Given the description of an element on the screen output the (x, y) to click on. 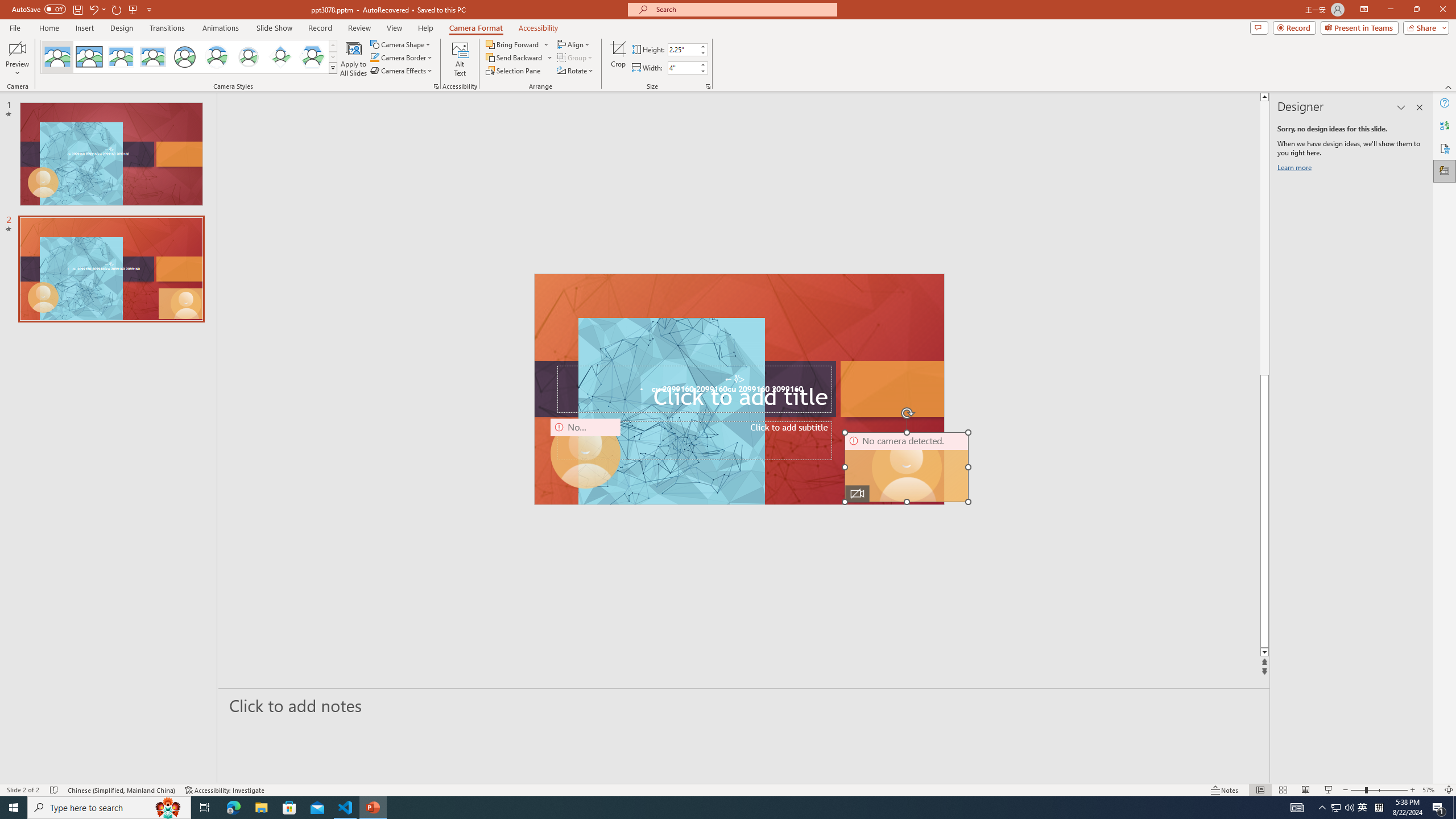
Send Backward (518, 56)
Camera Format (475, 28)
Crop (617, 58)
Center Shadow Diamond (280, 56)
Camera Styles (333, 67)
